Given the description of an element on the screen output the (x, y) to click on. 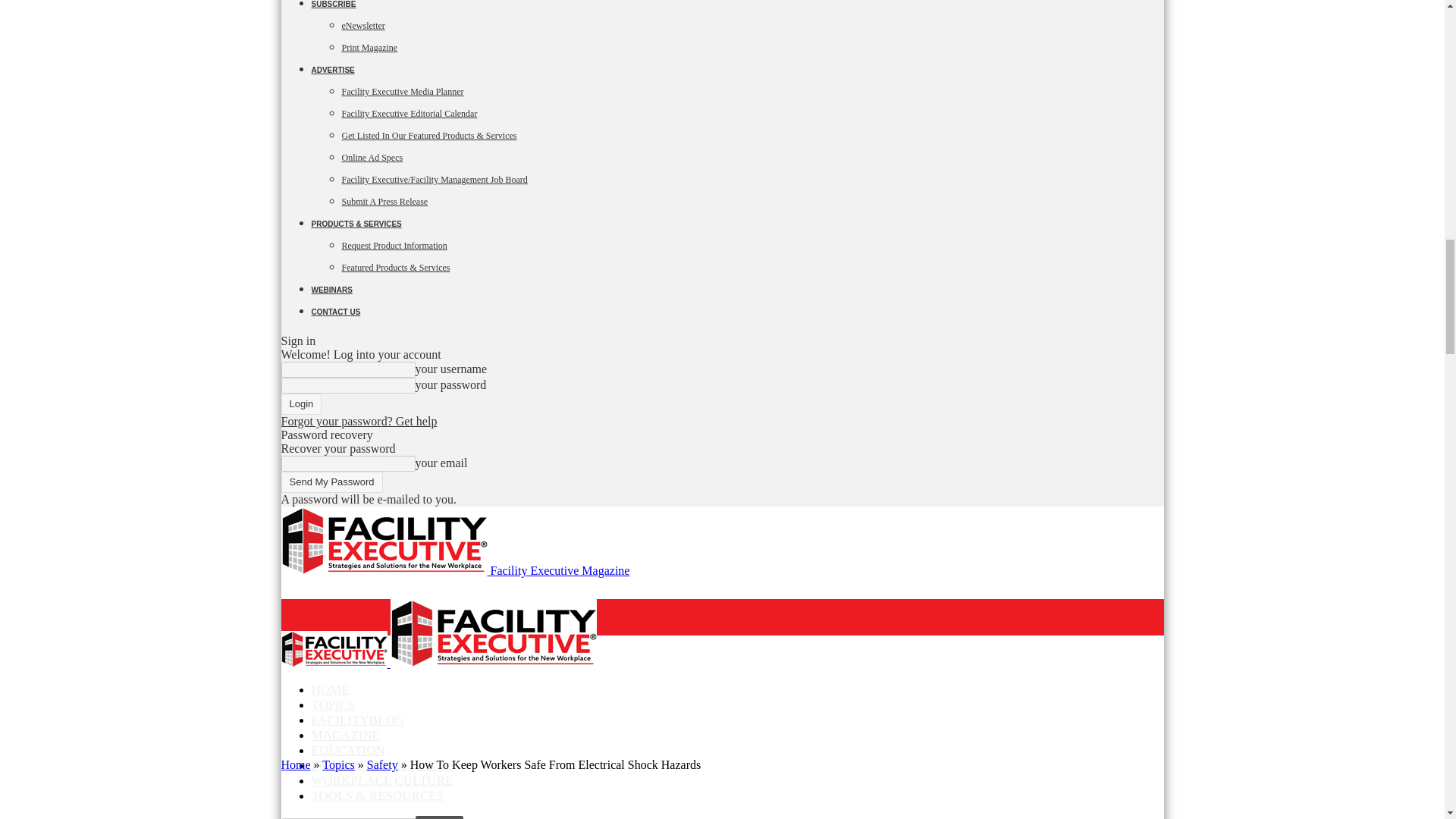
Strategies and Solutions for the New Workplace (492, 632)
Strategies and Solutions for the New Workplace (334, 648)
Strategies and Solutions for the New Workplace (383, 540)
Login (301, 403)
Send My Password (331, 482)
Search (438, 817)
